Given the description of an element on the screen output the (x, y) to click on. 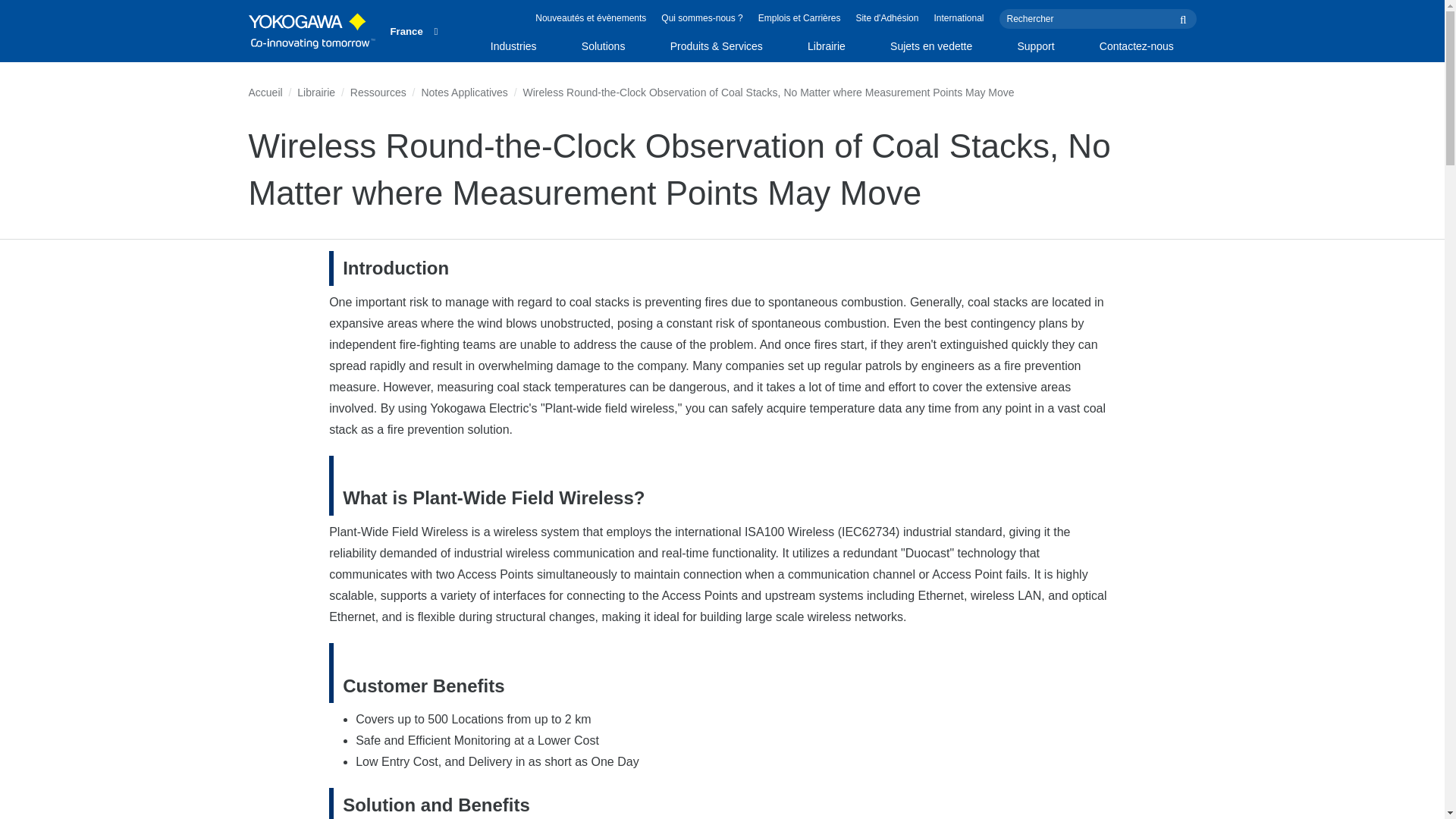
Industries (513, 49)
Sujets en vedette (930, 49)
Rechercher (1097, 18)
submit (1184, 18)
International (958, 18)
Qui sommes-nous ? (701, 18)
Support (1035, 49)
Solutions (603, 49)
Librairie (825, 49)
Contactez-nous (1136, 49)
